Given the description of an element on the screen output the (x, y) to click on. 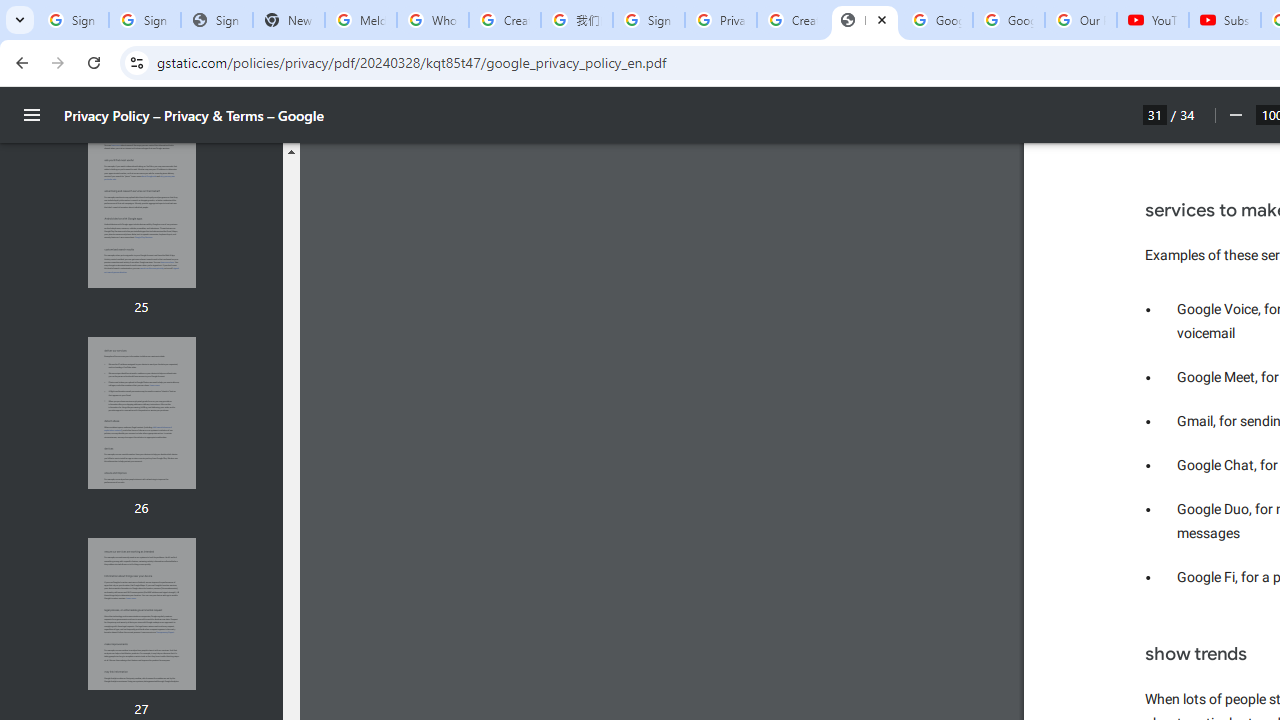
Thumbnail for page 25 (141, 212)
Create your Google Account (504, 20)
Subscriptions - YouTube (1224, 20)
Thumbnail for page 27 (141, 614)
Sign in - Google Accounts (144, 20)
Menu (31, 115)
New Tab (289, 20)
AutomationID: thumbnail (141, 613)
